Given the description of an element on the screen output the (x, y) to click on. 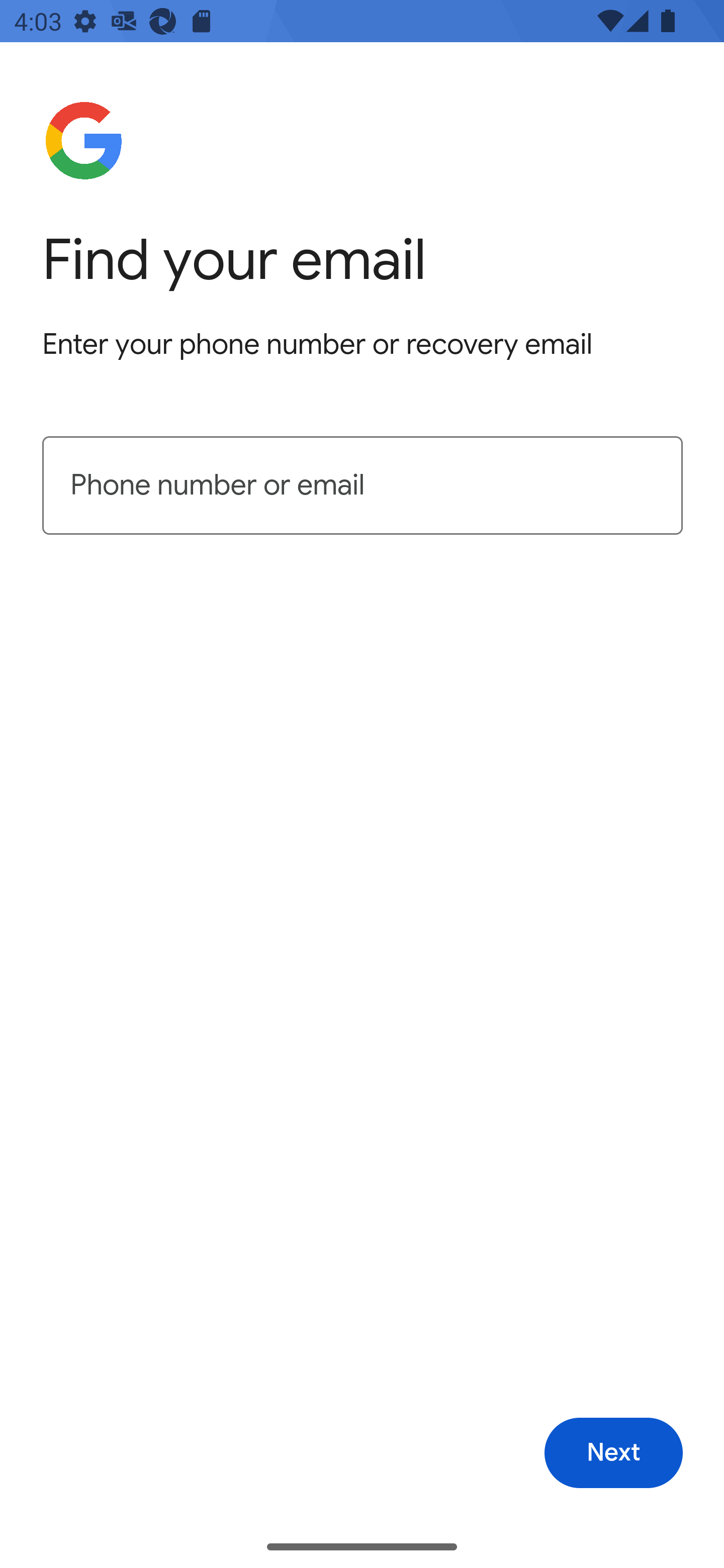
Next (613, 1453)
